Given the description of an element on the screen output the (x, y) to click on. 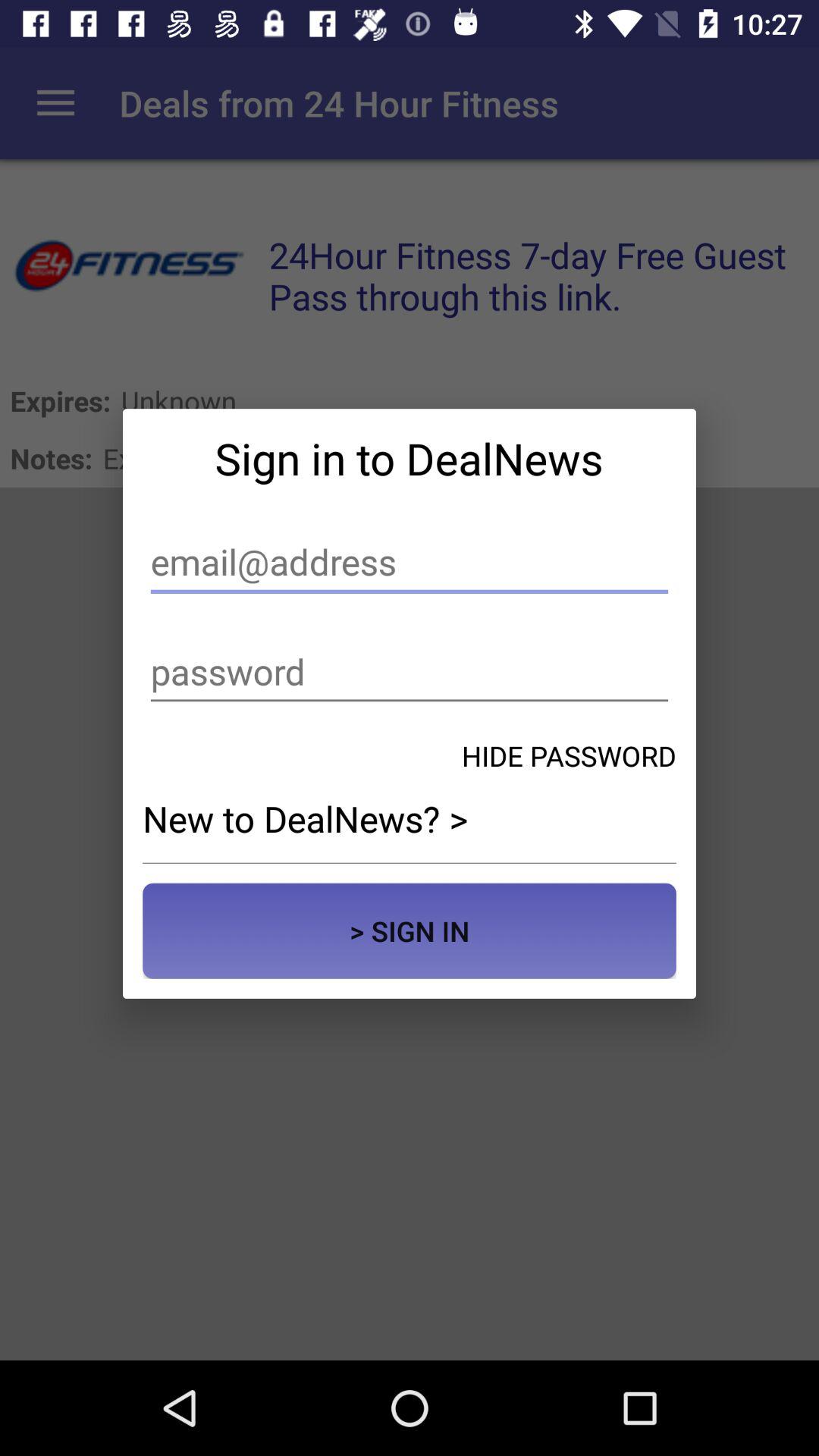
enter password (409, 672)
